Given the description of an element on the screen output the (x, y) to click on. 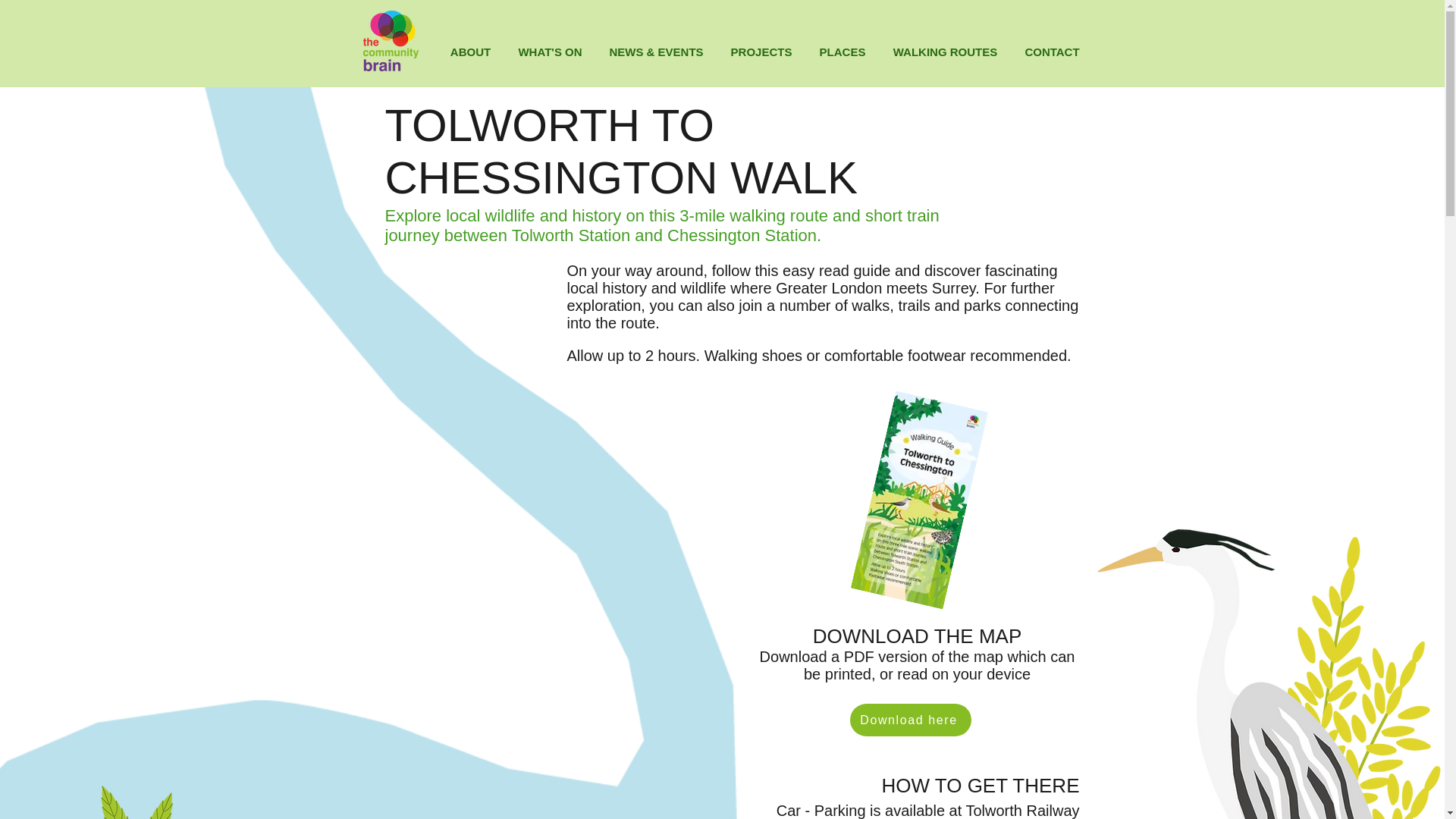
WALKING ROUTES (945, 51)
CONTACT (1052, 51)
Download here (909, 719)
PROJECTS (761, 51)
PLACES (842, 51)
WHAT'S ON (550, 51)
ABOUT (470, 51)
